Given the description of an element on the screen output the (x, y) to click on. 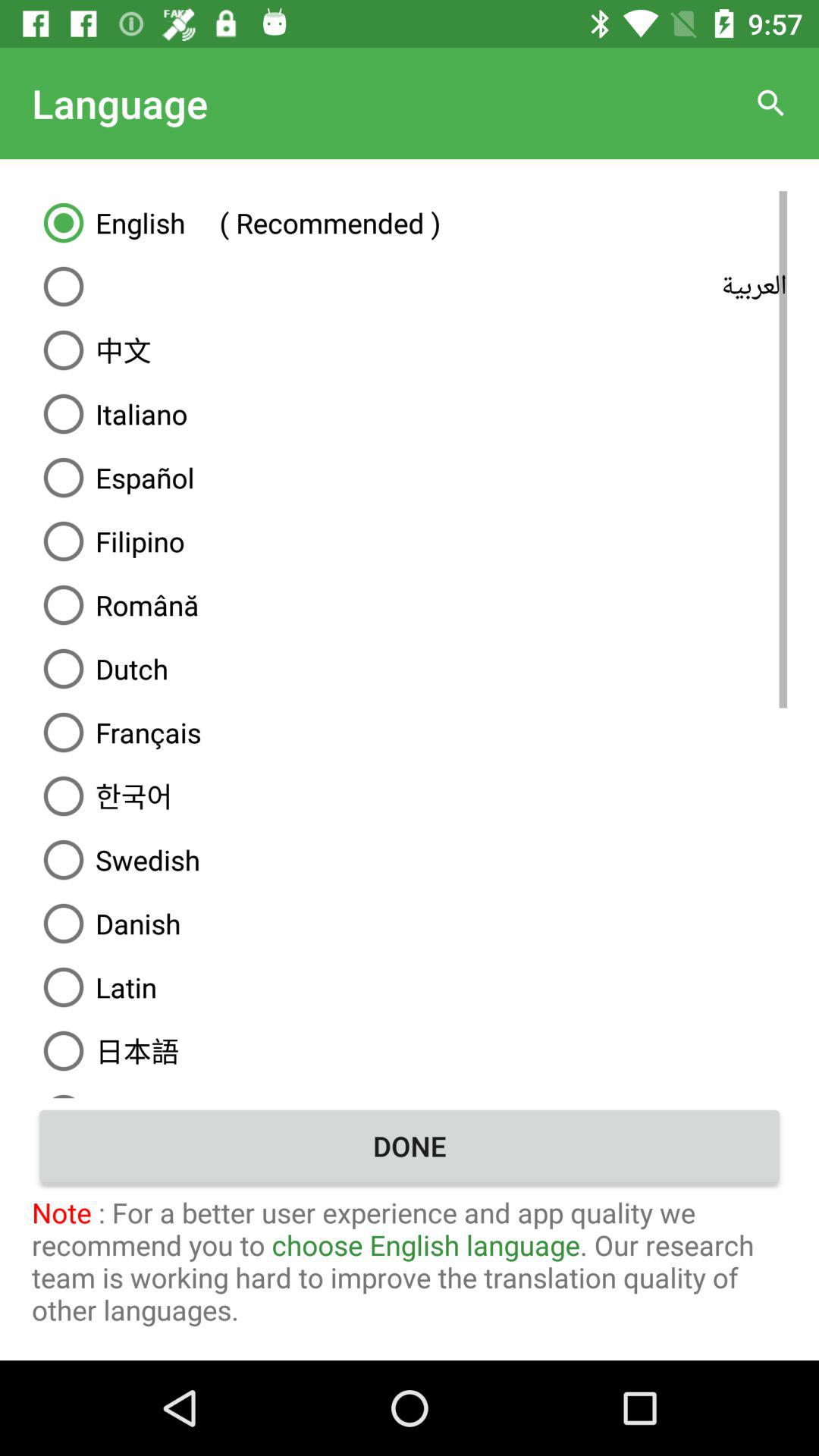
turn off the item below the swedish item (409, 923)
